Given the description of an element on the screen output the (x, y) to click on. 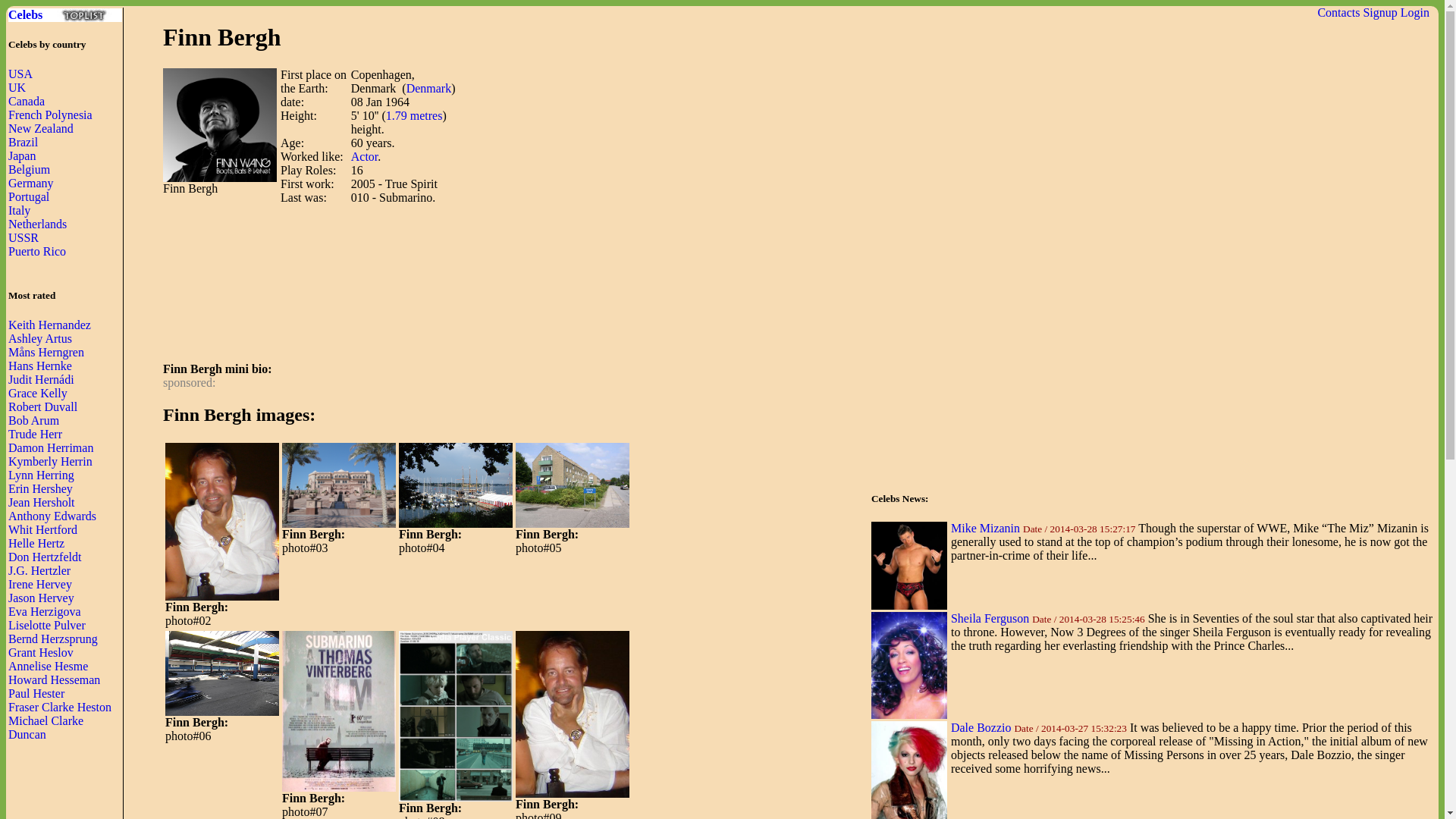
French Polynesia (50, 114)
Anthony Edwards (52, 515)
Whit Hertford (42, 529)
USSR (23, 237)
Helle Hertz (36, 543)
New Zealand (41, 128)
Advertisement (438, 314)
USA (20, 73)
Italy (19, 210)
Signup (1379, 11)
Puerto Rico (36, 250)
Brazil (22, 141)
Ashley Artus (39, 338)
J.G. Hertzler (38, 570)
Canada (26, 101)
